Given the description of an element on the screen output the (x, y) to click on. 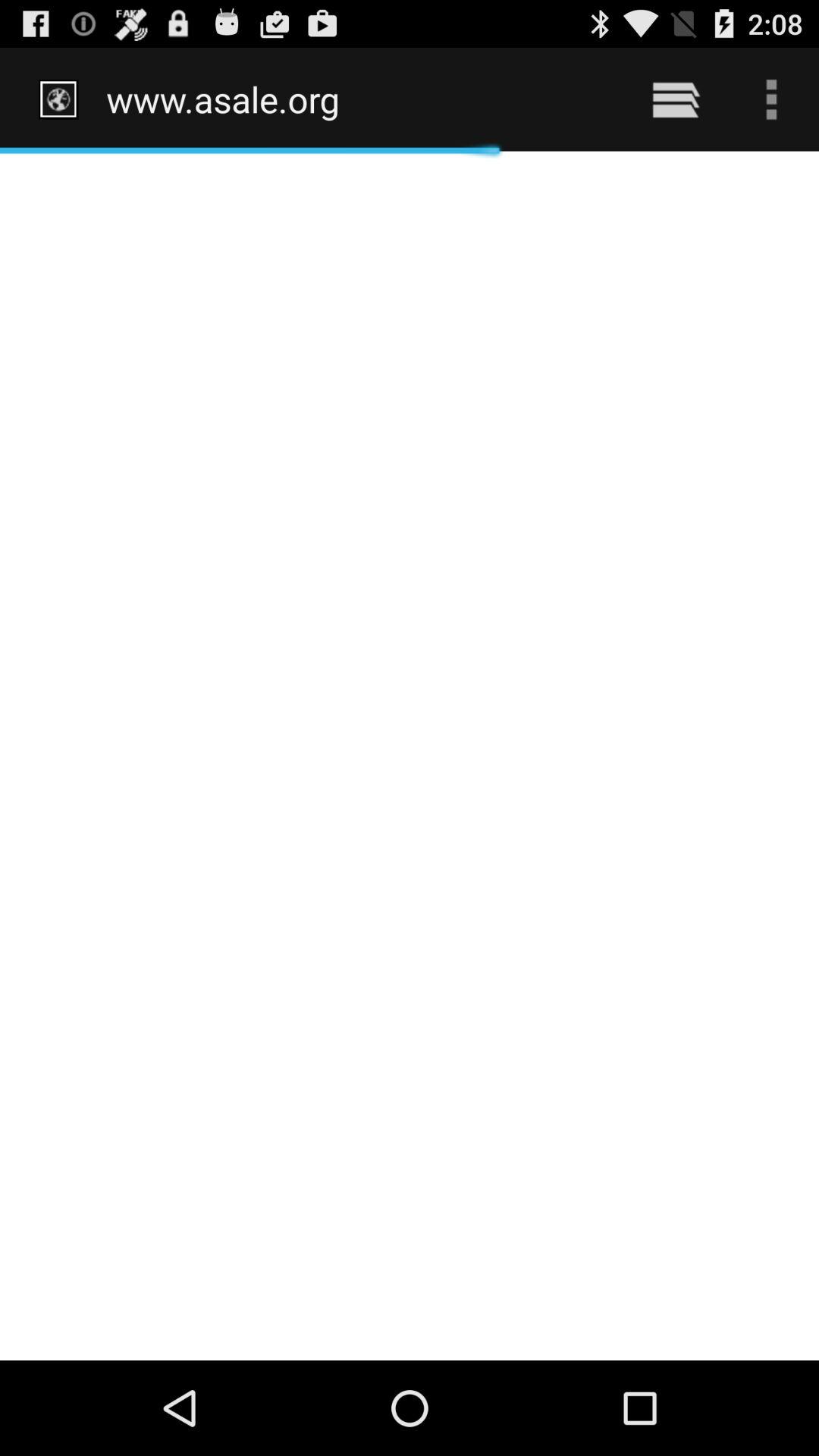
scroll to http www asale (357, 99)
